Given the description of an element on the screen output the (x, y) to click on. 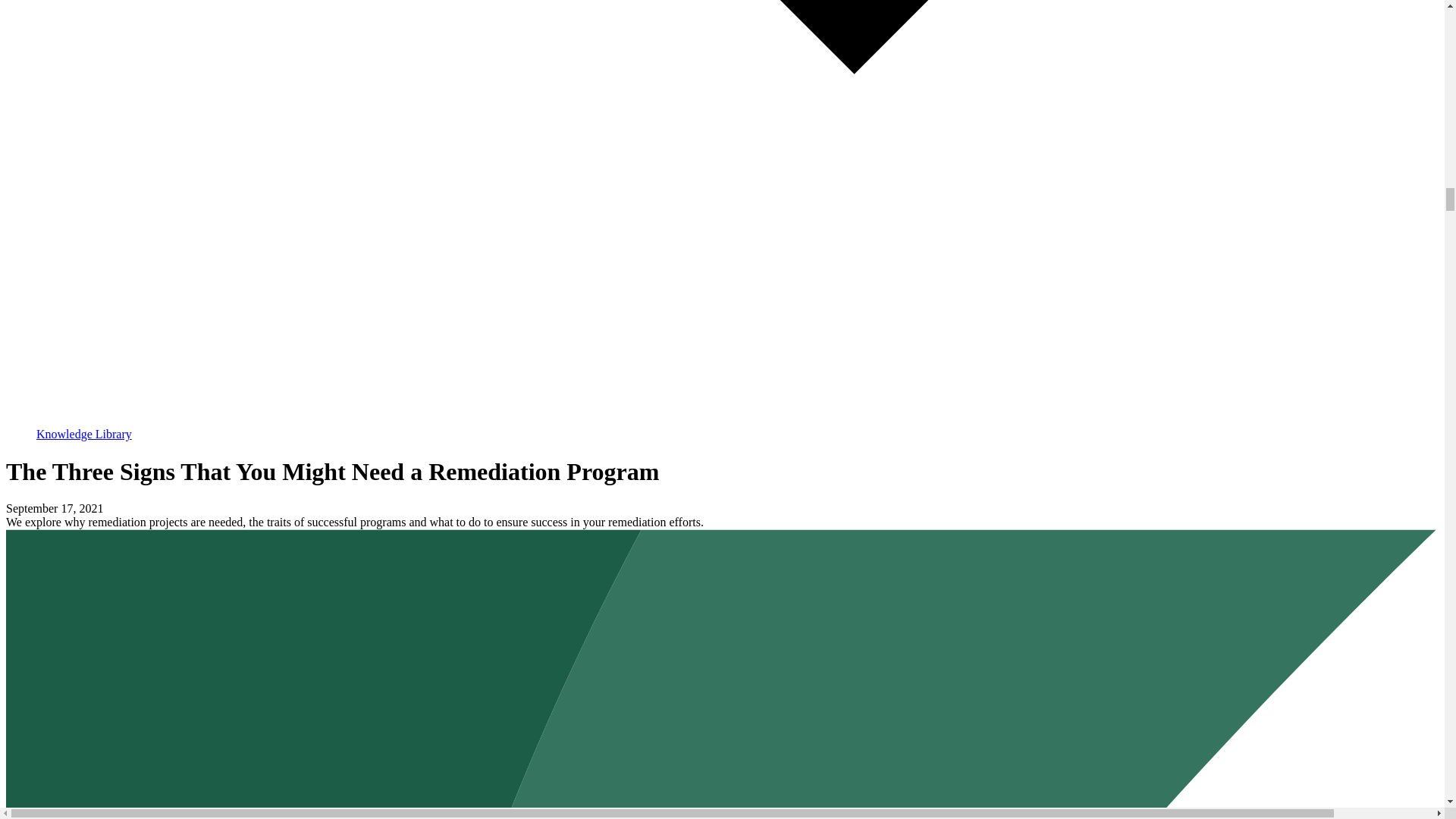
Knowledge Library (737, 427)
